Given the description of an element on the screen output the (x, y) to click on. 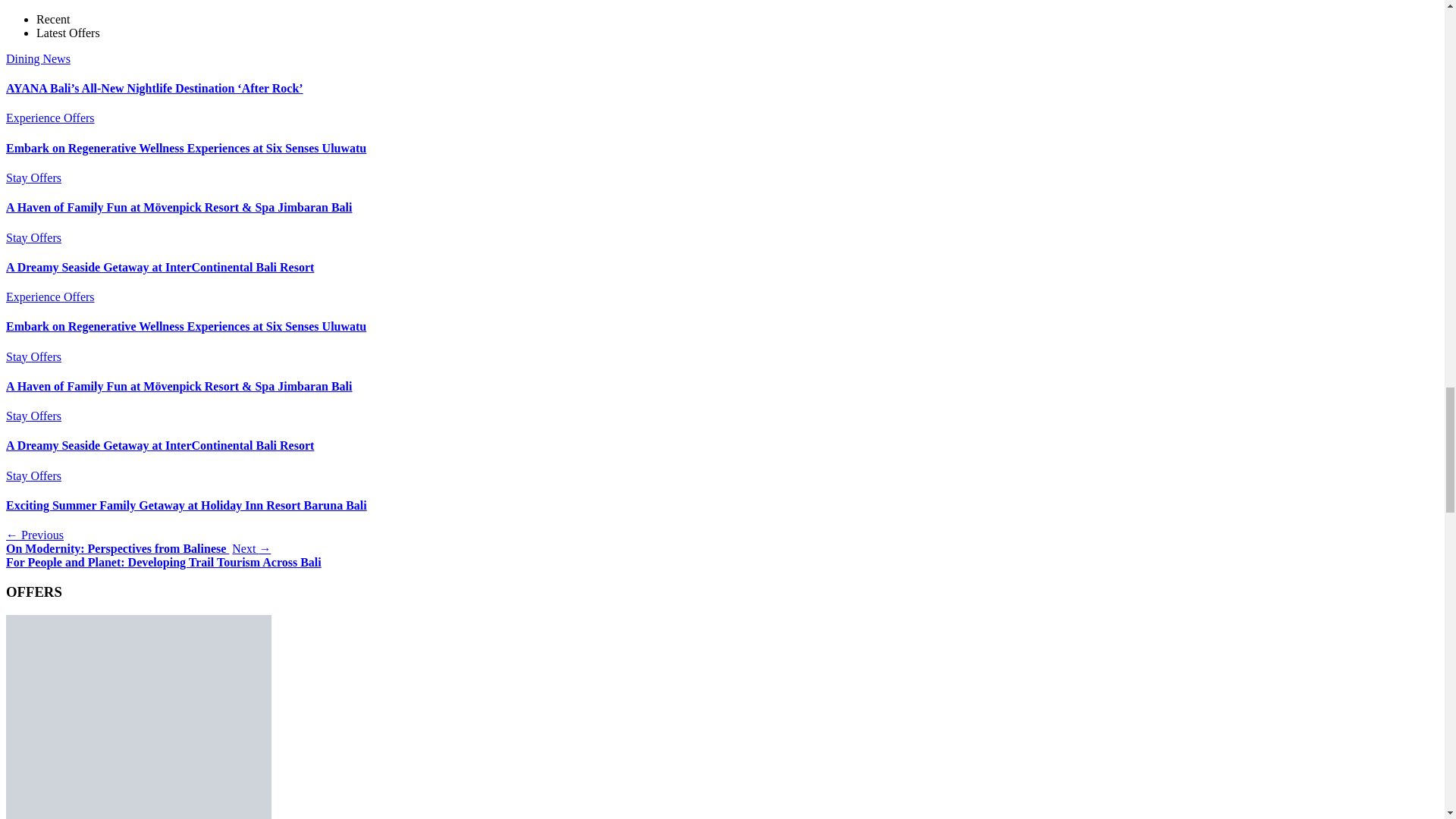
Stay Offers (33, 475)
Stay Offers (33, 415)
Dining News (37, 58)
Recent (52, 19)
A Dreamy Seaside Getaway at InterContinental Bali Resort (159, 445)
Stay Offers (33, 356)
Latest Offers (68, 32)
Experience Offers (49, 117)
Stay Offers (33, 237)
Stay Offers (33, 177)
A Dreamy Seaside Getaway at InterContinental Bali Resort (159, 267)
Experience Offers (49, 296)
